Given the description of an element on the screen output the (x, y) to click on. 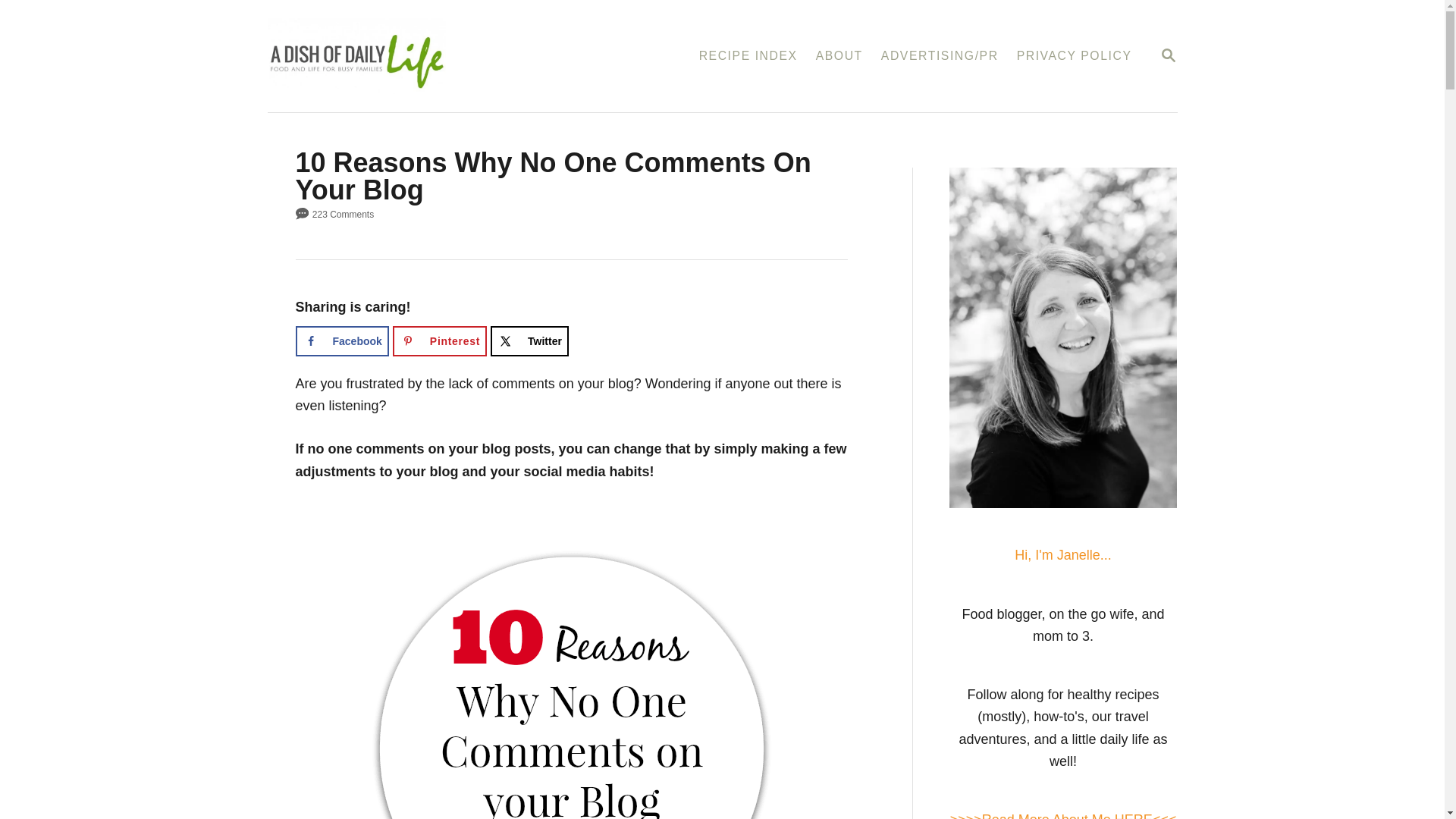
Facebook (341, 340)
Save to Pinterest (439, 340)
A Dish of Daily Life (429, 56)
MAGNIFYING GLASS (1167, 54)
Share on Facebook (341, 340)
PRIVACY POLICY (1074, 55)
Twitter (529, 340)
ABOUT (839, 55)
Share on X (529, 340)
RECIPE INDEX (1168, 55)
Pinterest (748, 55)
